Given the description of an element on the screen output the (x, y) to click on. 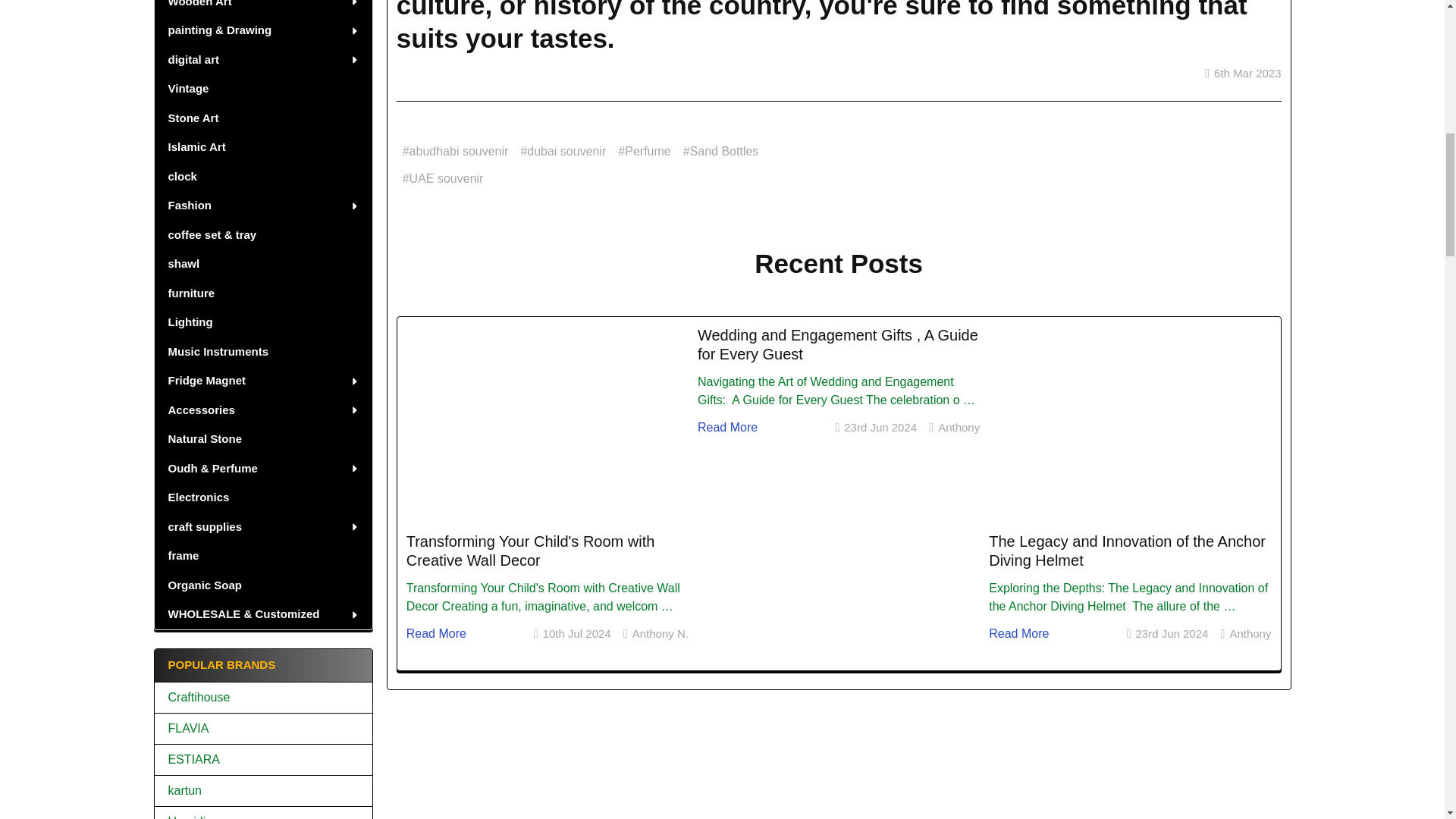
FLAVIA (263, 728)
kartun (263, 791)
ESTIARA (263, 760)
Hamidi (263, 816)
Craftihouse (263, 697)
